Given the description of an element on the screen output the (x, y) to click on. 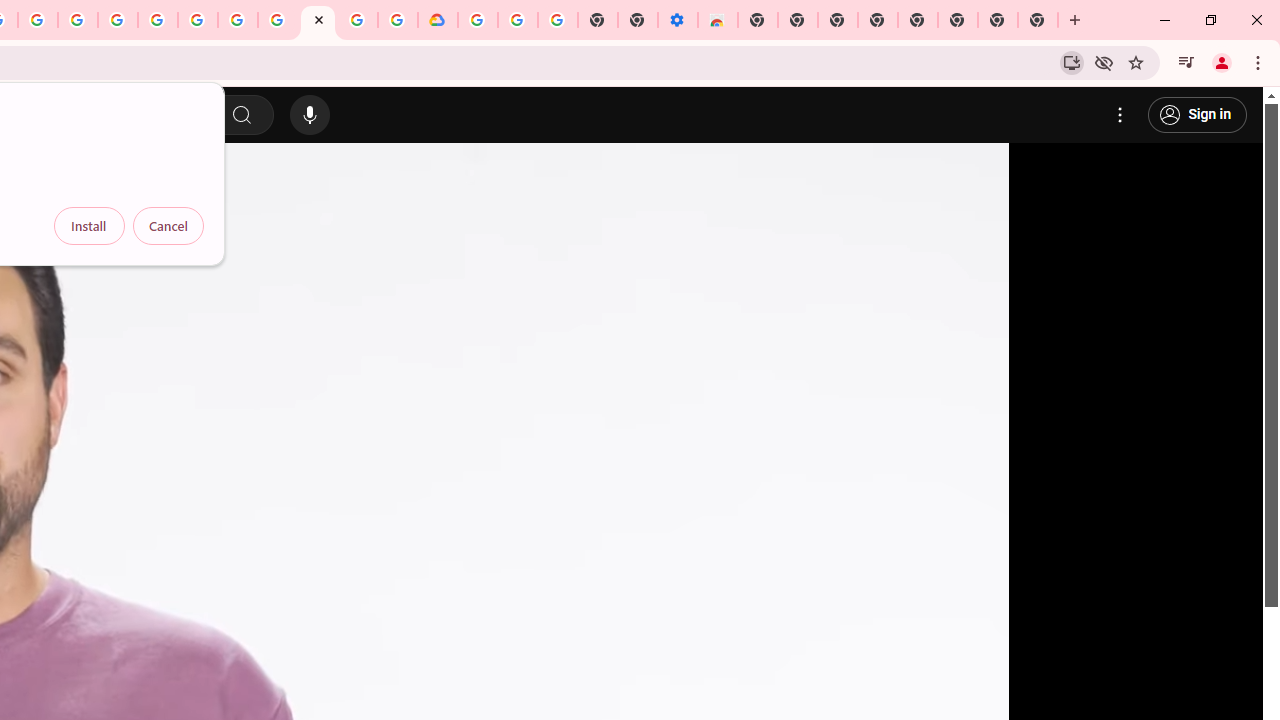
Install YouTube (1071, 62)
Settings - Accessibility (677, 20)
Android TV Policies and Guidelines - Transparency Center (278, 20)
Google Account Help (237, 20)
Google Account Help (517, 20)
Install (89, 225)
Browse the Google Chrome Community - Google Chrome Community (397, 20)
Sign in - Google Accounts (477, 20)
Create your Google Account (37, 20)
